Given the description of an element on the screen output the (x, y) to click on. 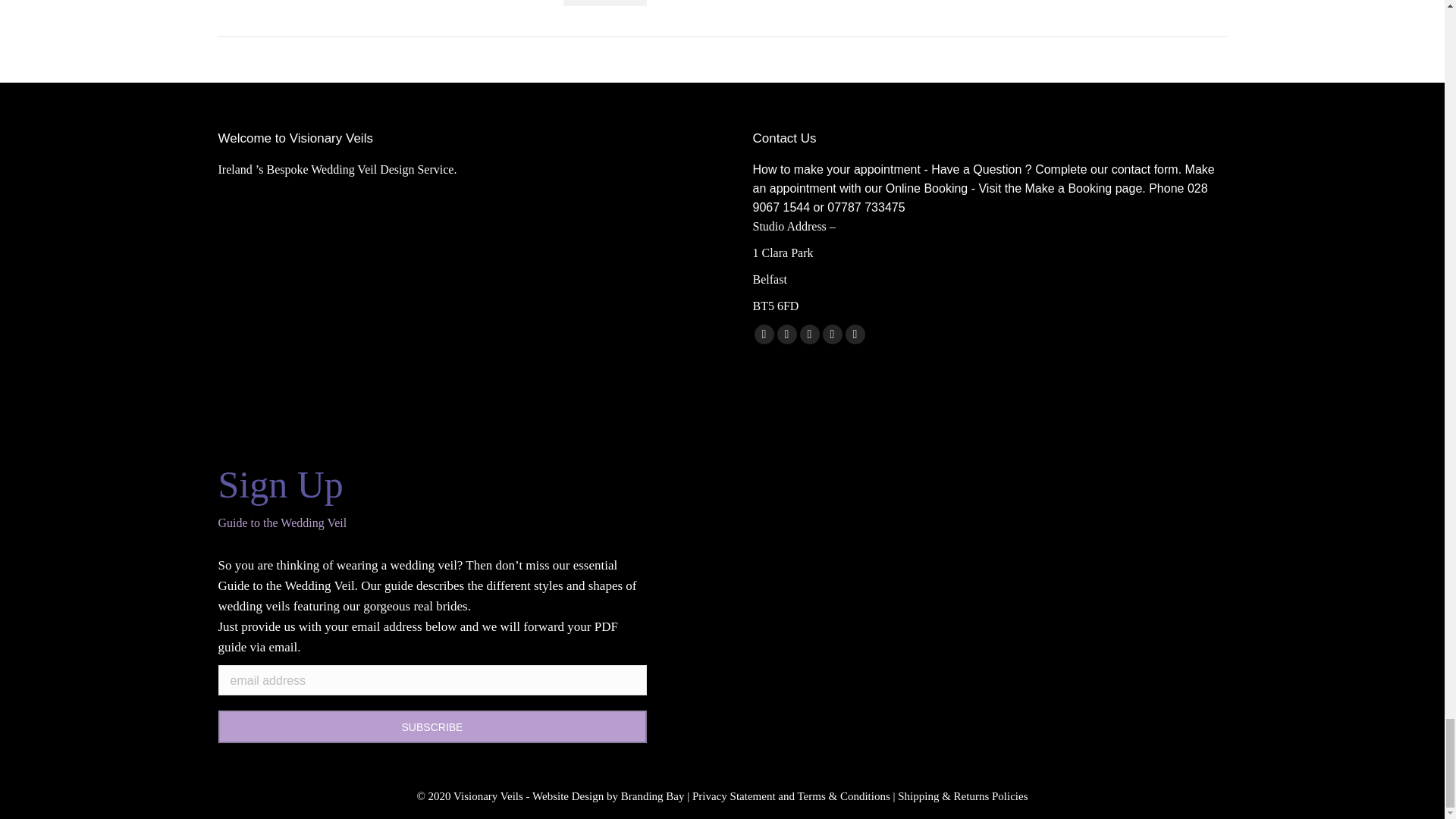
Instagram page opens in new window (854, 333)
YouTube page opens in new window (808, 333)
Subscribe (432, 726)
Pinterest page opens in new window (831, 333)
X page opens in new window (786, 333)
Facebook page opens in new window (763, 333)
